Given the description of an element on the screen output the (x, y) to click on. 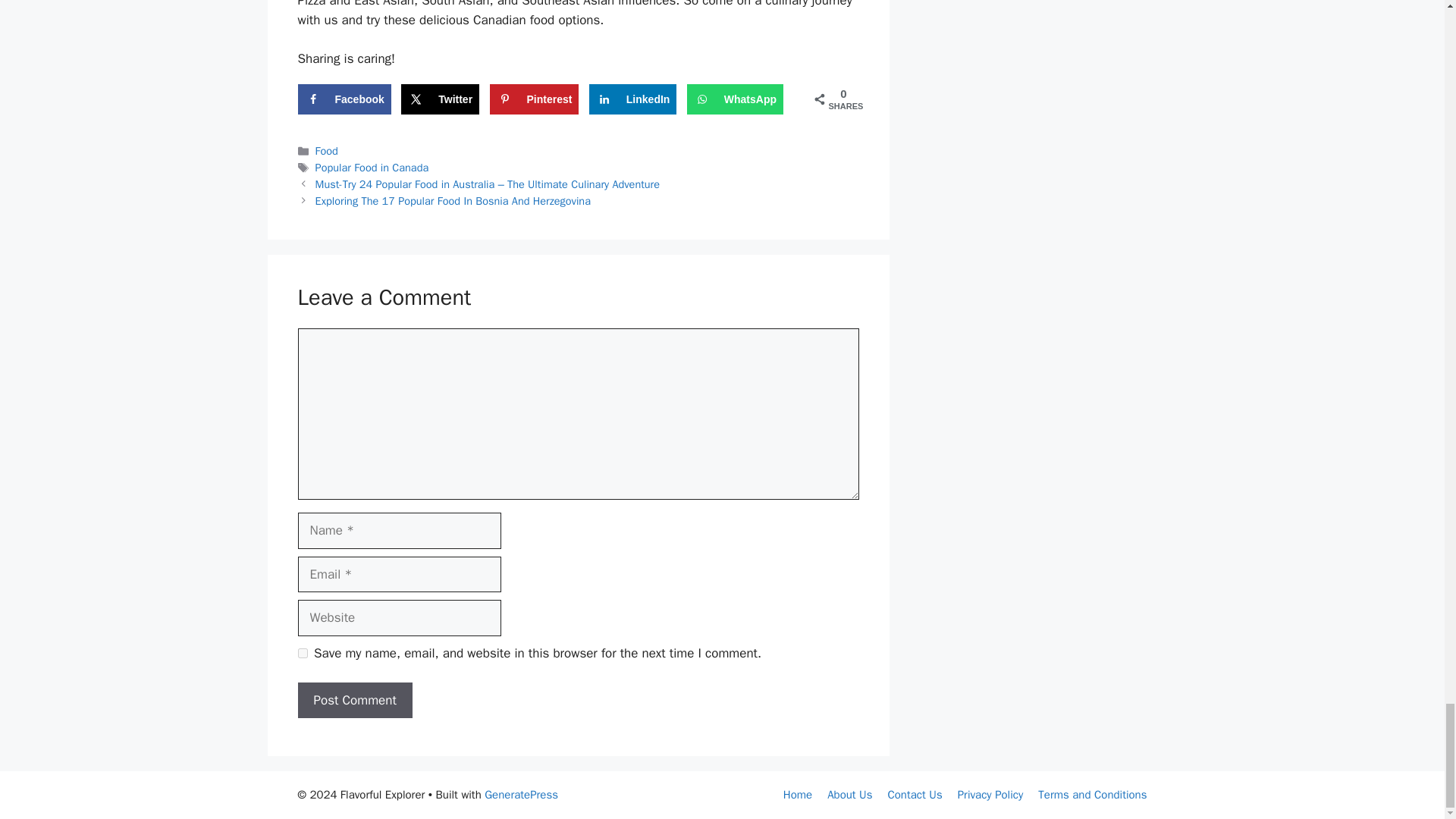
WhatsApp (735, 99)
Share on LinkedIn (633, 99)
Share on WhatsApp (735, 99)
yes (302, 653)
Save to Pinterest (534, 99)
Home (797, 794)
Food (326, 151)
Share on Facebook (343, 99)
LinkedIn (633, 99)
Facebook (343, 99)
Twitter (440, 99)
Exploring The 17 Popular Food In Bosnia And Herzegovina (453, 200)
About Us (849, 794)
Popular Food in Canada (372, 167)
Contact Us (914, 794)
